Given the description of an element on the screen output the (x, y) to click on. 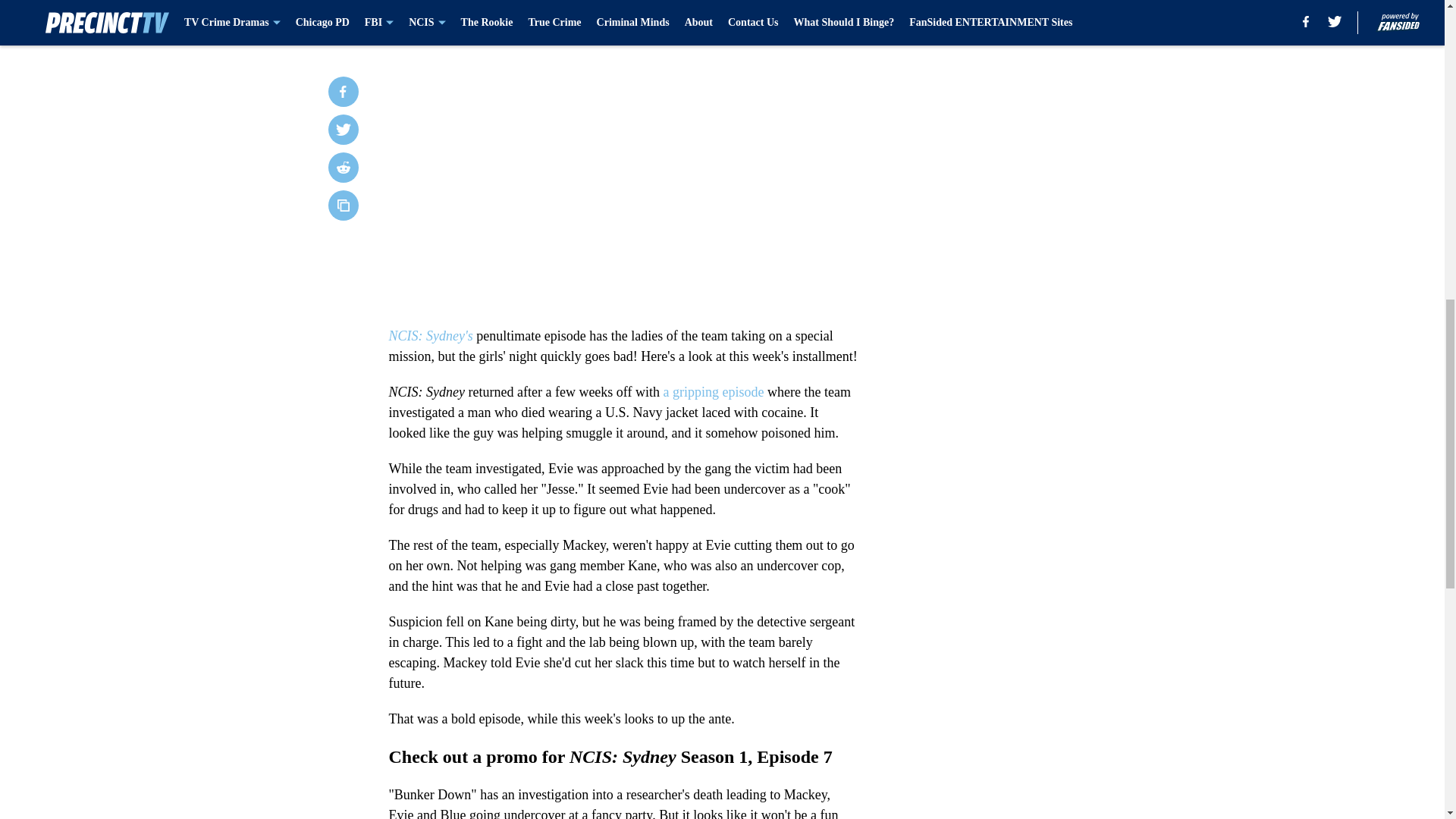
a gripping episode (710, 391)
NCIS: Sydney's (429, 335)
